Given the description of an element on the screen output the (x, y) to click on. 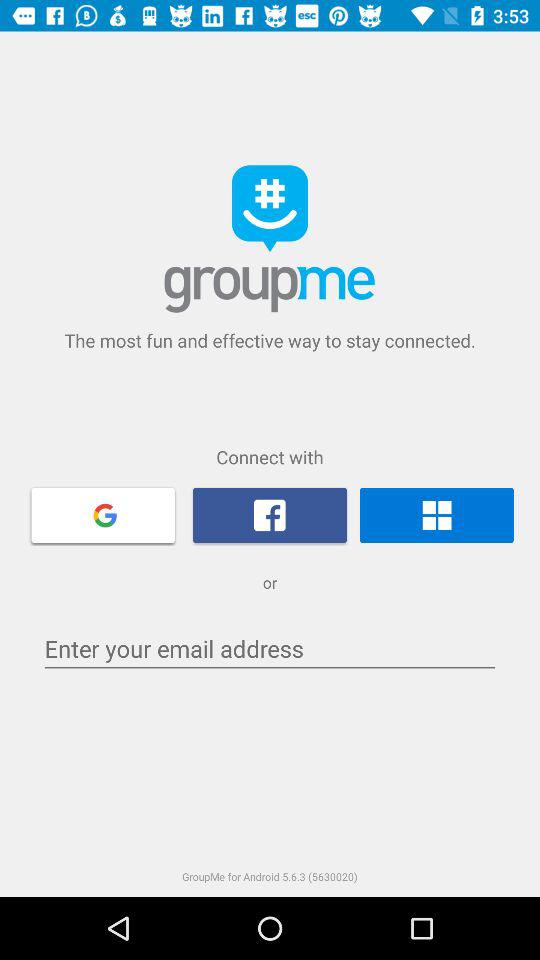
email text field (269, 648)
